Given the description of an element on the screen output the (x, y) to click on. 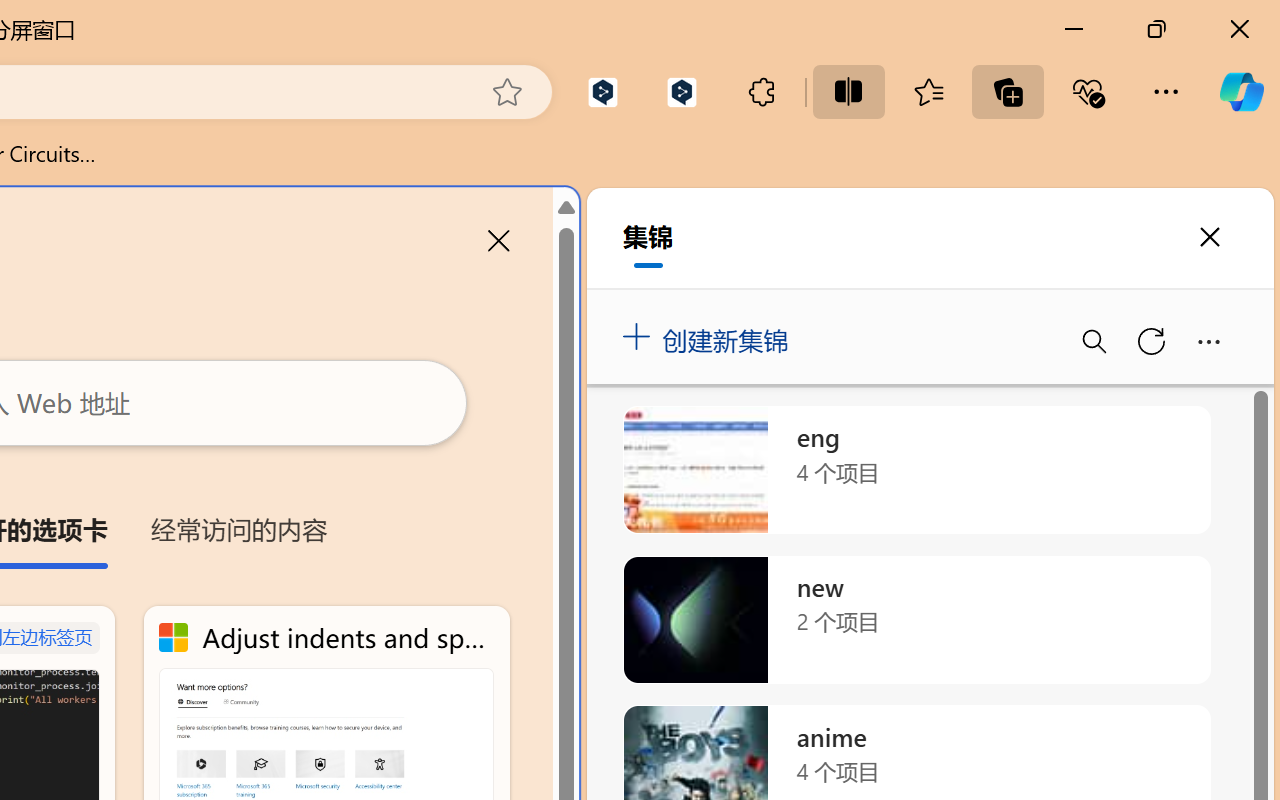
Copilot (Ctrl+Shift+.) (1241, 91)
